Given the description of an element on the screen output the (x, y) to click on. 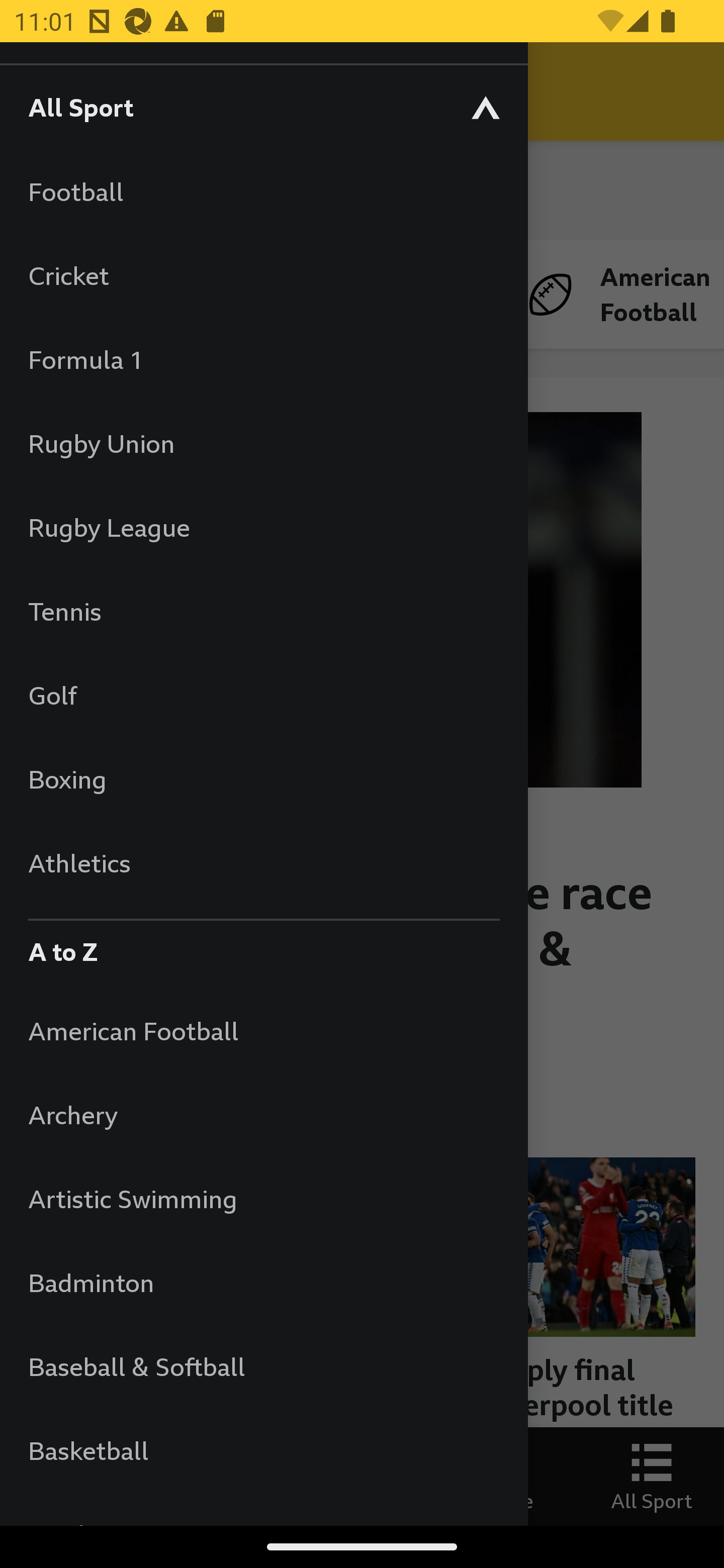
All Sport (263, 106)
Football (263, 190)
Cricket (263, 275)
Formula 1 (263, 358)
Rugby Union (263, 443)
Rugby League (263, 526)
Tennis (263, 611)
Golf (263, 694)
Boxing (263, 778)
Athletics (263, 862)
A to Z (263, 946)
American Football (263, 1029)
Archery (263, 1114)
Artistic Swimming (263, 1198)
Badminton (263, 1282)
Baseball & Softball (263, 1366)
Basketball (263, 1450)
